Given the description of an element on the screen output the (x, y) to click on. 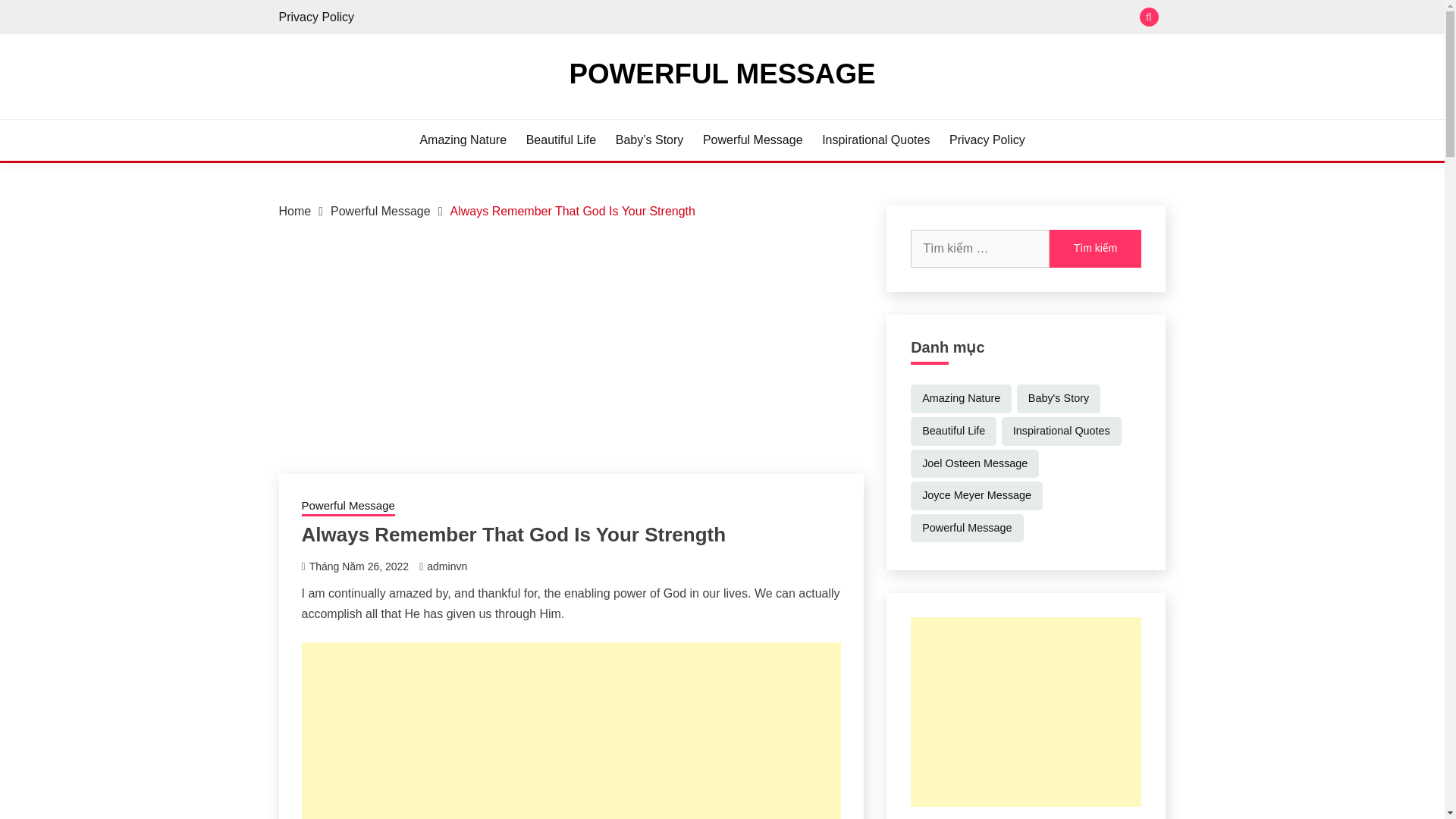
Powerful Message (347, 506)
Inspirational Quotes (876, 140)
Advertisement (1026, 711)
Amazing Nature (462, 140)
Beautiful Life (560, 140)
Amazing Nature (961, 398)
Privacy Policy (317, 16)
Powerful Message (380, 210)
Advertisement (571, 730)
adminvn (446, 566)
